Given the description of an element on the screen output the (x, y) to click on. 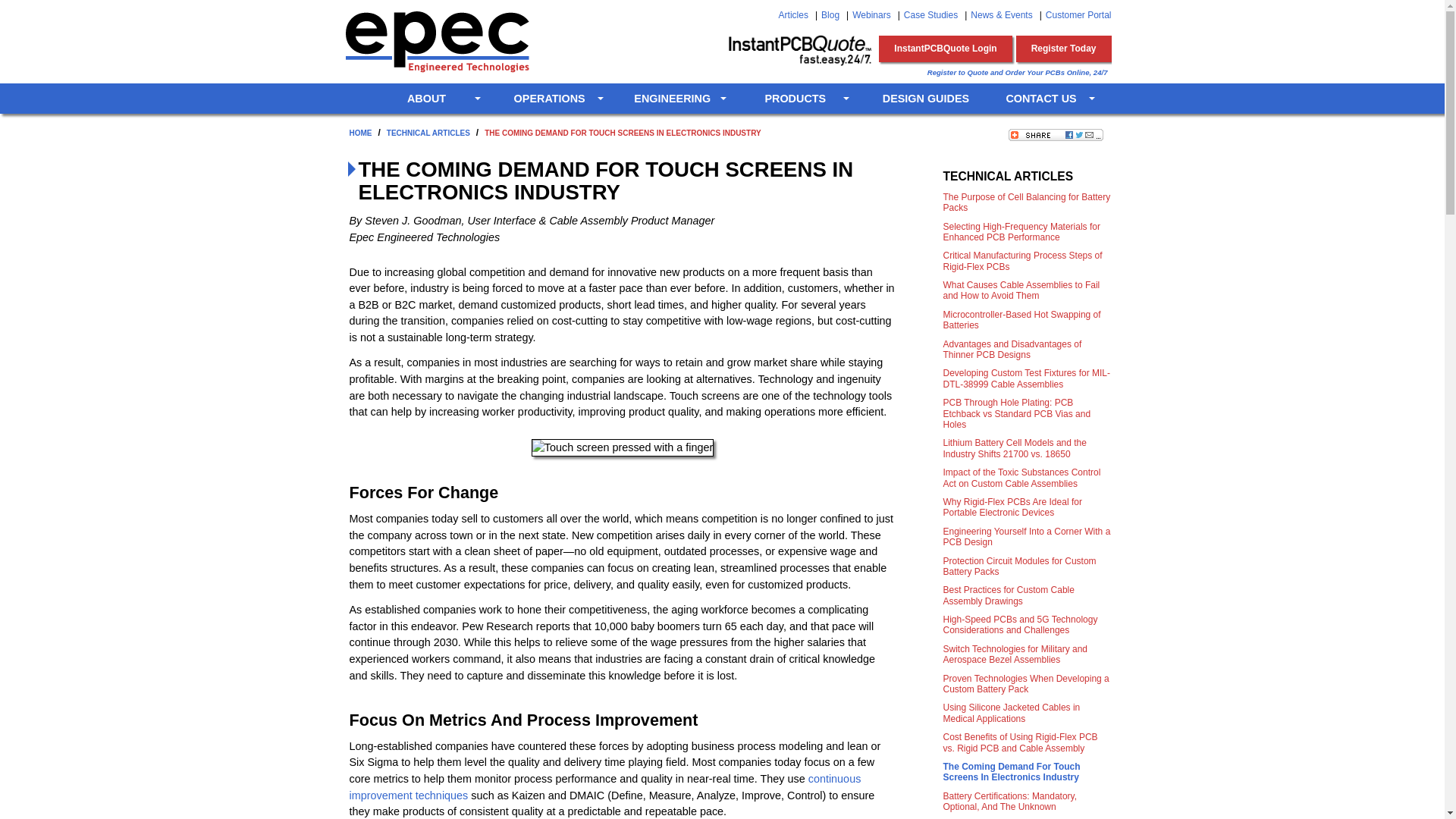
Blog (830, 14)
Touch screen pressed with a finger (622, 447)
Share, Bookmark or Email This Page (1056, 134)
ABOUT (434, 98)
Epec Engineered Technologies - Build to Print Electronics (435, 41)
Register Today (1064, 49)
InstantPCBQuote - Quote and Order Your PCBs Online (800, 50)
Webinars (870, 14)
Register for a FREE User Account (1064, 49)
Access Your InstantPCBQuote User Account (945, 49)
PRODUCTS (802, 98)
InstantPCBQuote Login (945, 49)
Case Studies (931, 14)
Articles (793, 14)
